Given the description of an element on the screen output the (x, y) to click on. 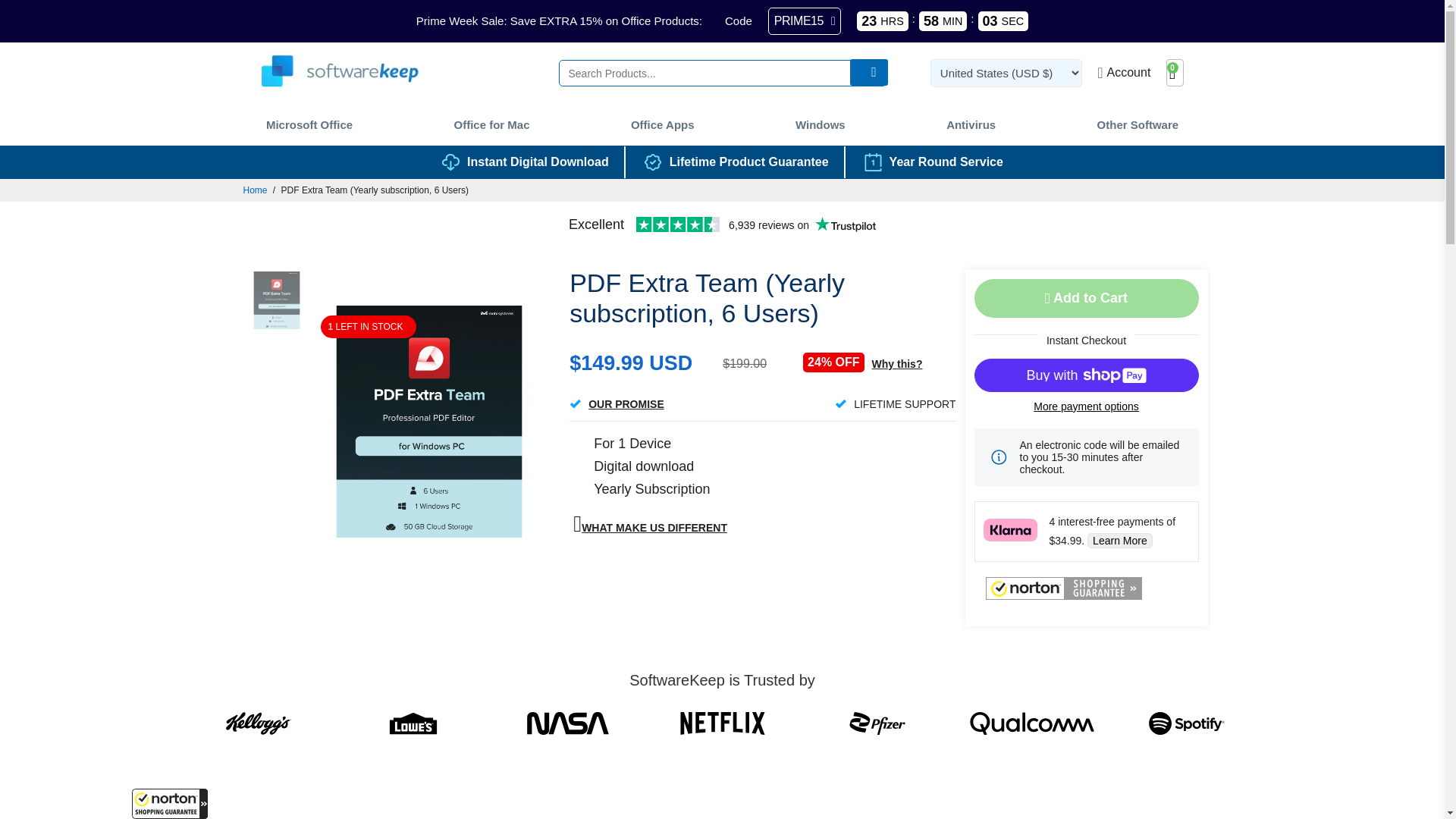
Microsoft Office (309, 124)
Klarna badge (1009, 529)
Account (1123, 72)
Home (254, 190)
Unused iFrame 1 (170, 803)
